Given the description of an element on the screen output the (x, y) to click on. 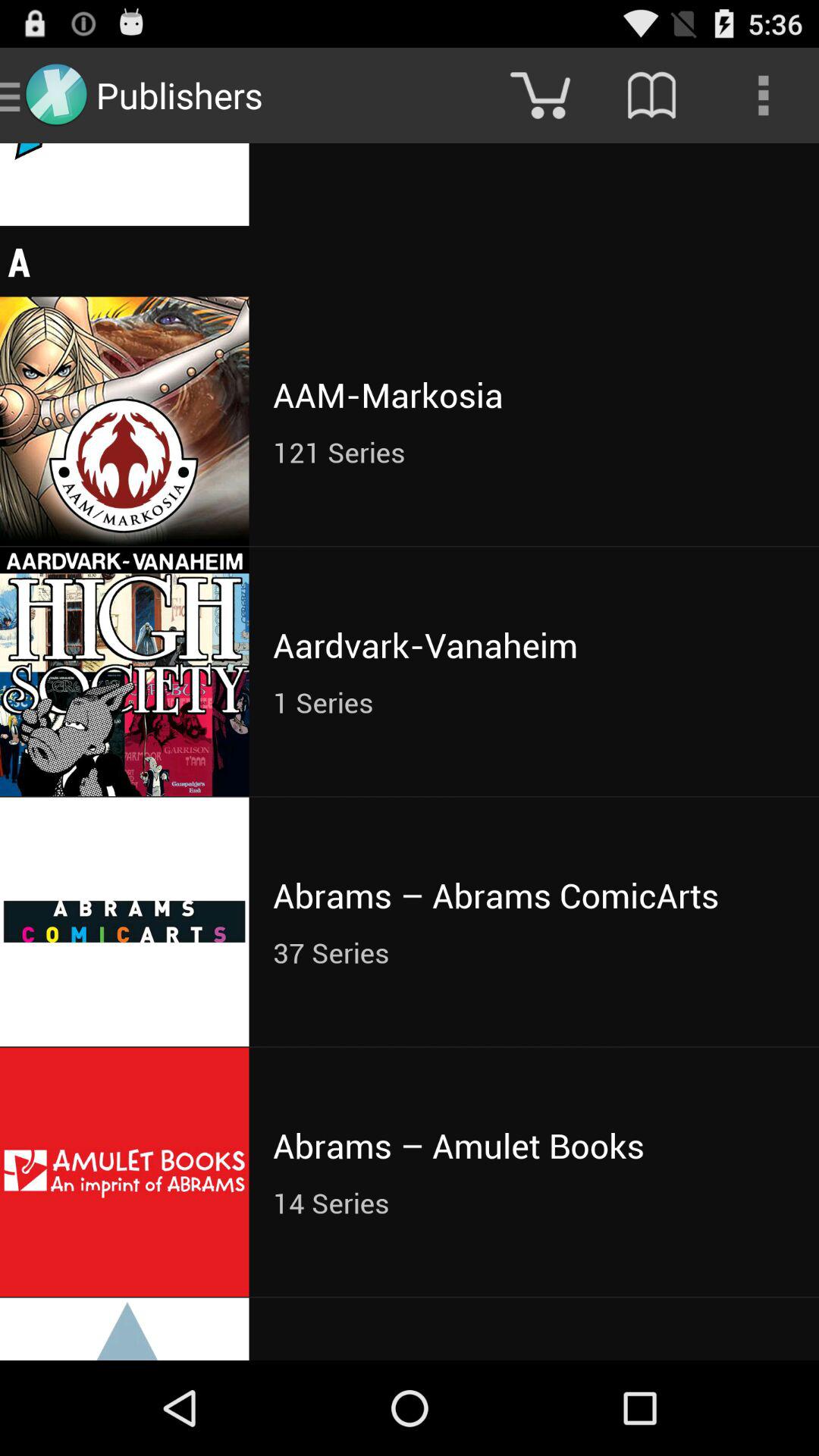
turn off the 1 series (534, 702)
